Given the description of an element on the screen output the (x, y) to click on. 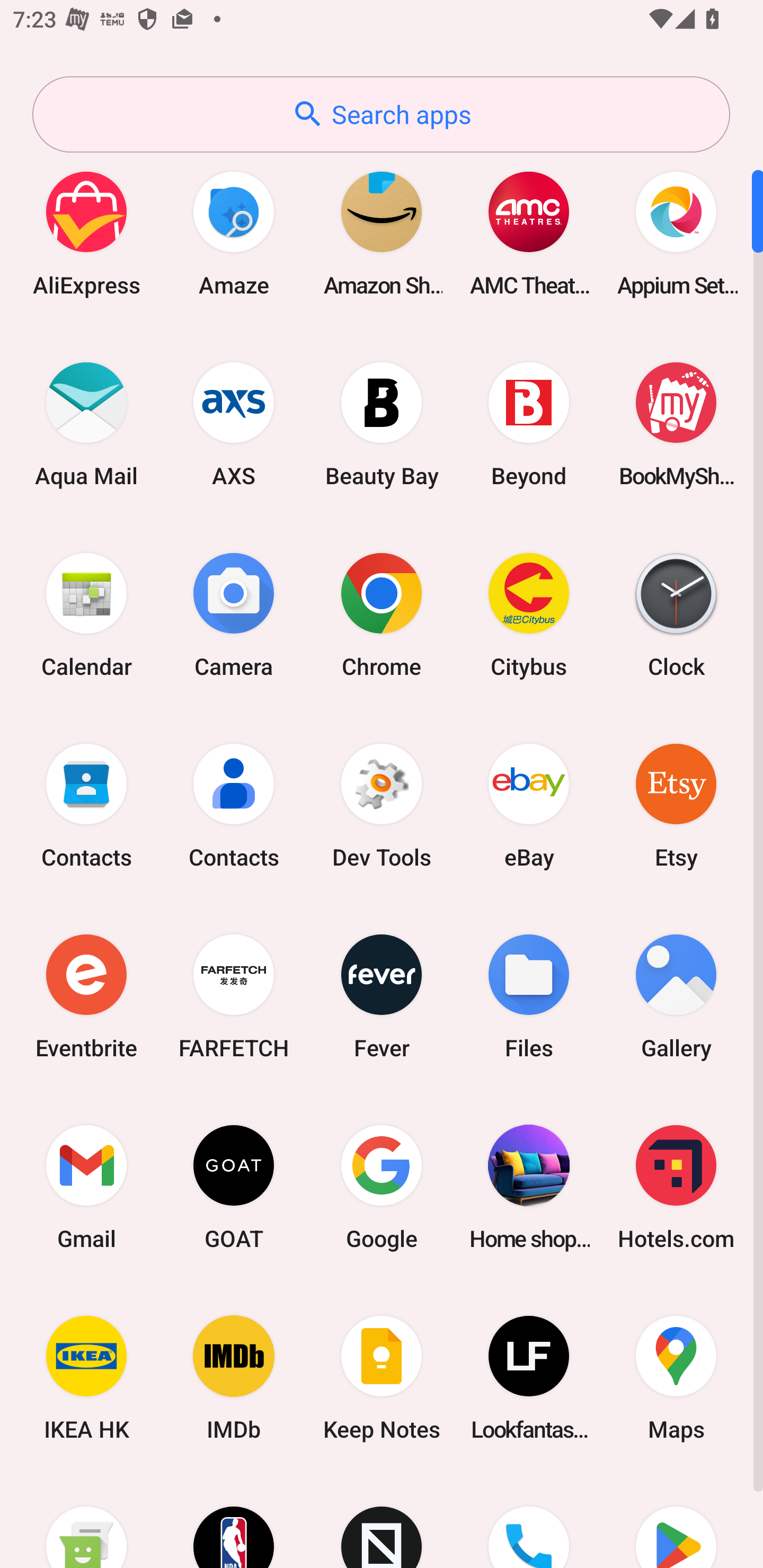
  Search apps (381, 114)
AliExpress (86, 233)
Amaze (233, 233)
Amazon Shopping (381, 233)
AMC Theatres (528, 233)
Appium Settings (676, 233)
Aqua Mail (86, 424)
AXS (233, 424)
Beauty Bay (381, 424)
Beyond (528, 424)
BookMyShow (676, 424)
Calendar (86, 614)
Camera (233, 614)
Chrome (381, 614)
Citybus (528, 614)
Clock (676, 614)
Contacts (86, 805)
Contacts (233, 805)
Dev Tools (381, 805)
eBay (528, 805)
Etsy (676, 805)
Eventbrite (86, 996)
FARFETCH (233, 996)
Fever (381, 996)
Files (528, 996)
Gallery (676, 996)
Gmail (86, 1186)
GOAT (233, 1186)
Google (381, 1186)
Home shopping (528, 1186)
Hotels.com (676, 1186)
IKEA HK (86, 1377)
IMDb (233, 1377)
Keep Notes (381, 1377)
Lookfantastic (528, 1377)
Maps (676, 1377)
Messaging (86, 1520)
NBA (233, 1520)
Novelship (381, 1520)
Phone (528, 1520)
Play Store (676, 1520)
